Given the description of an element on the screen output the (x, y) to click on. 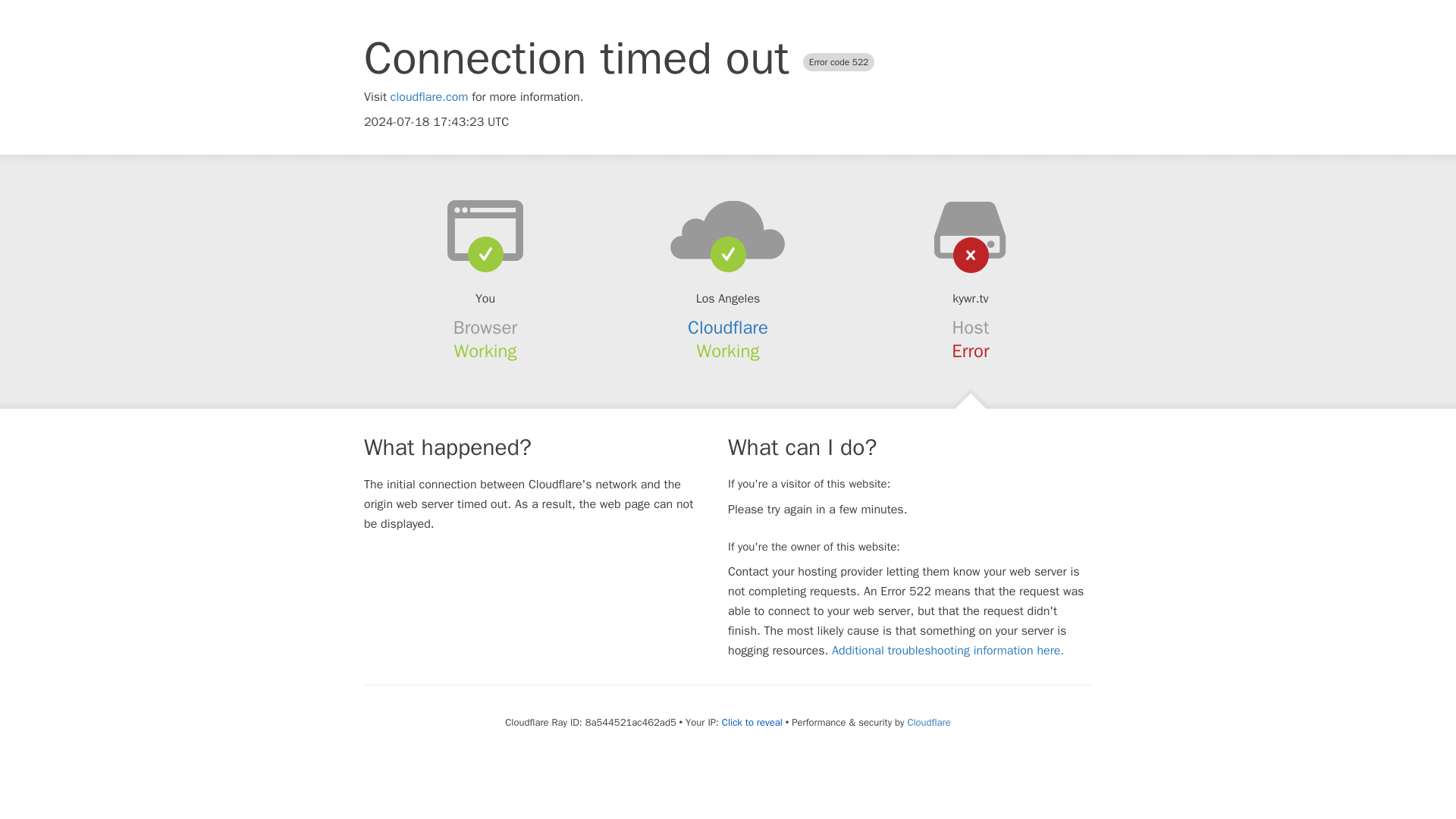
Cloudflare (928, 721)
cloudflare.com (429, 96)
Additional troubleshooting information here. (947, 650)
Cloudflare (727, 327)
Click to reveal (752, 722)
